Given the description of an element on the screen output the (x, y) to click on. 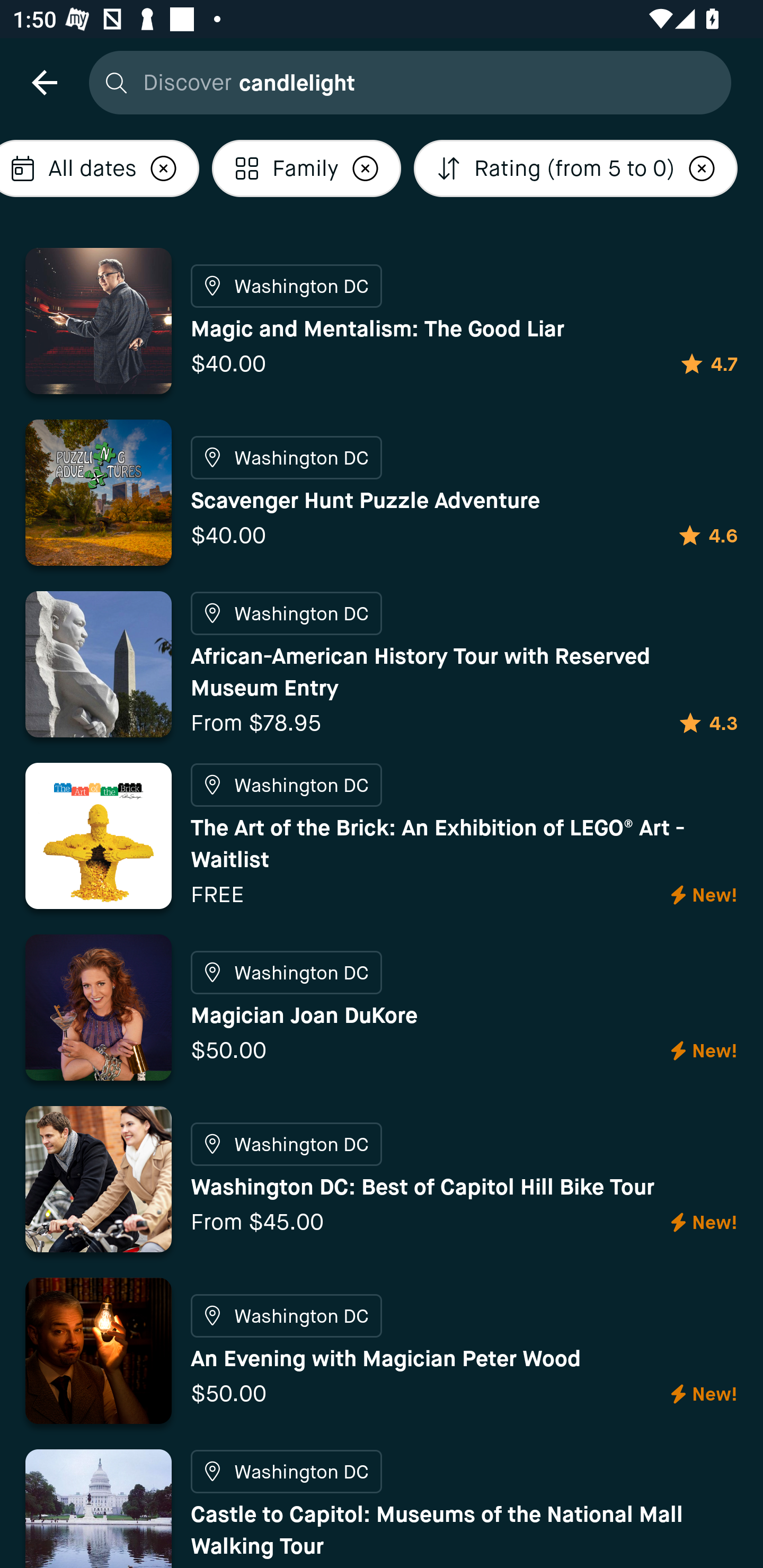
navigation icon (44, 81)
Discover candlelight (405, 81)
Localized description (163, 168)
Localized description Family Localized description (306, 168)
Localized description (365, 168)
Localized description (701, 168)
